Given the description of an element on the screen output the (x, y) to click on. 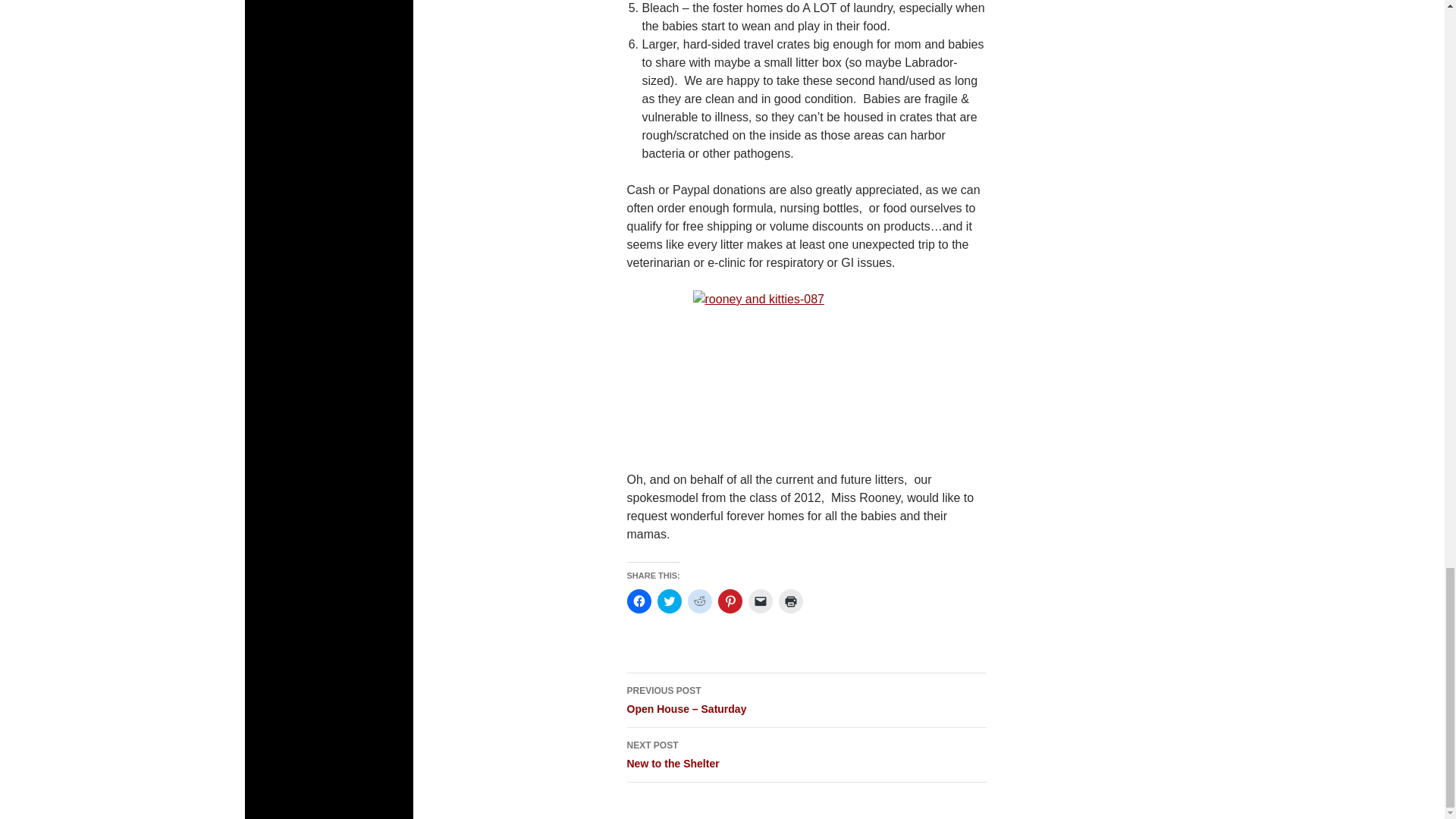
Click to share on Facebook (805, 755)
Click to share on Pinterest (638, 600)
Click to share on Reddit (729, 600)
Click to print (699, 600)
Click to share on Twitter (789, 600)
Click to email a link to a friend (668, 600)
